Given the description of an element on the screen output the (x, y) to click on. 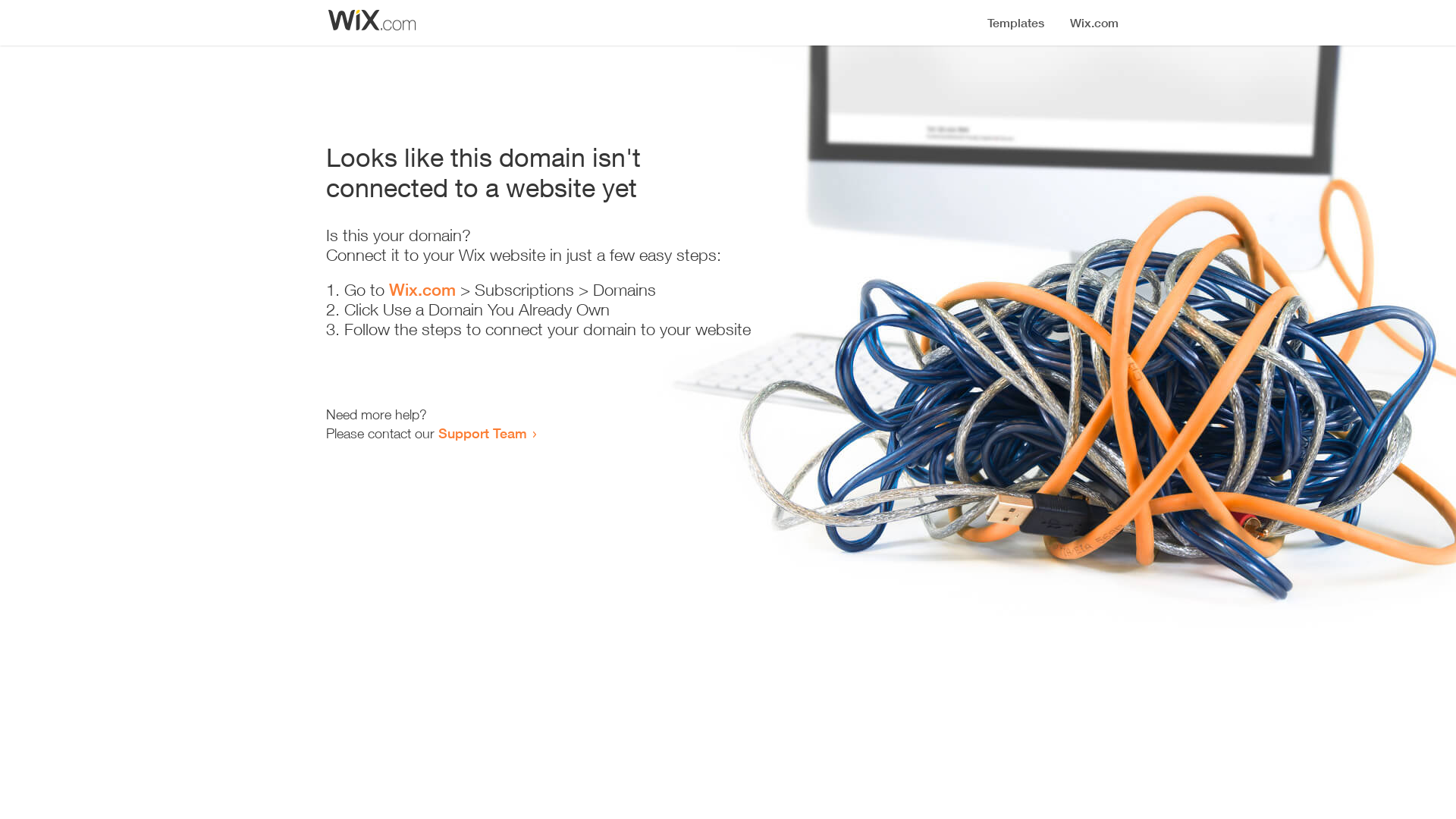
Wix.com Element type: text (422, 289)
Support Team Element type: text (482, 432)
